Given the description of an element on the screen output the (x, y) to click on. 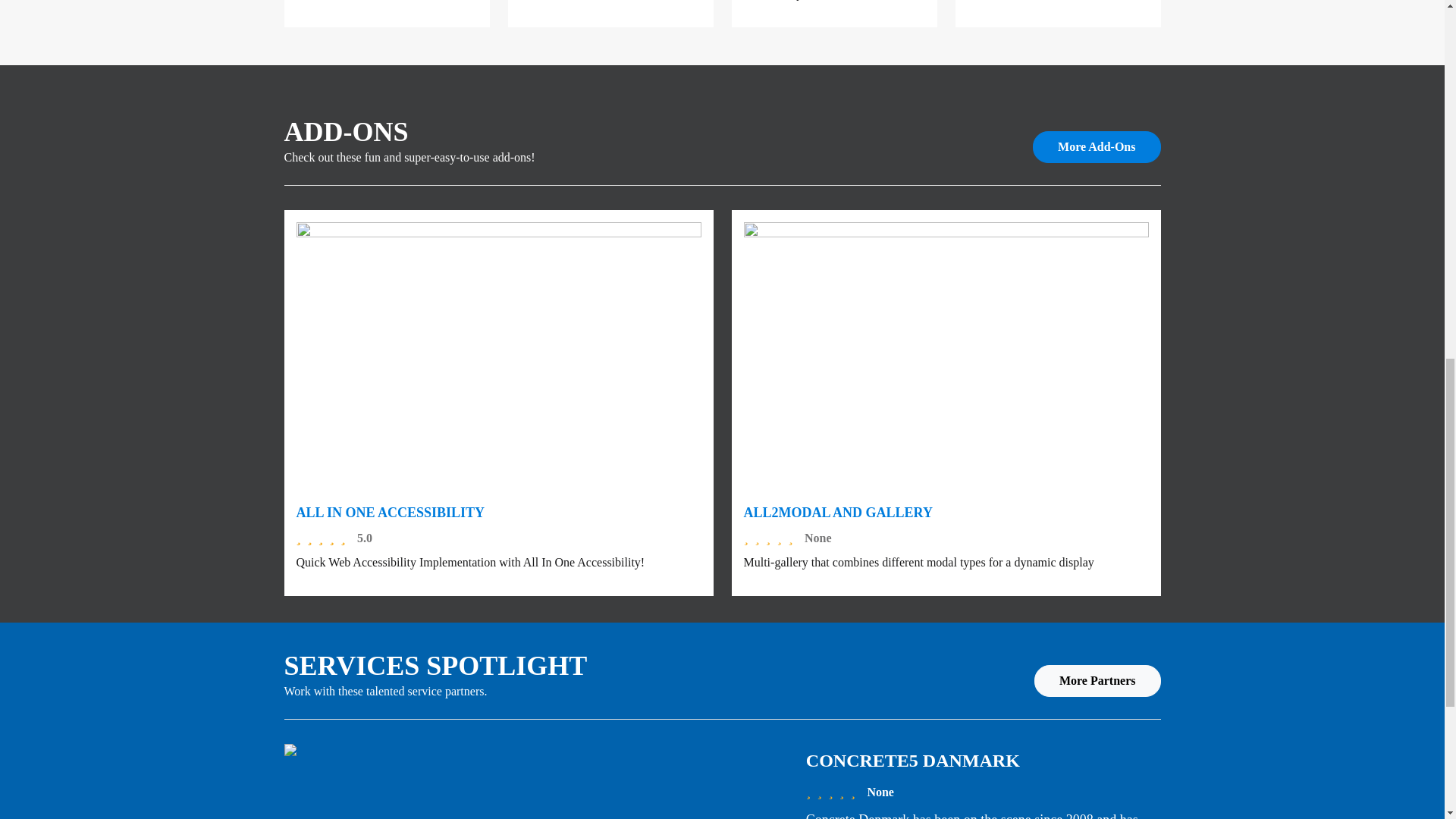
More Partners (1096, 680)
ALL IN ONE ACCESSIBILITY (389, 512)
CONCRETE5 DANMARK (913, 760)
ALL2MODAL AND GALLERY (836, 512)
More Add-Ons (1096, 146)
